Given the description of an element on the screen output the (x, y) to click on. 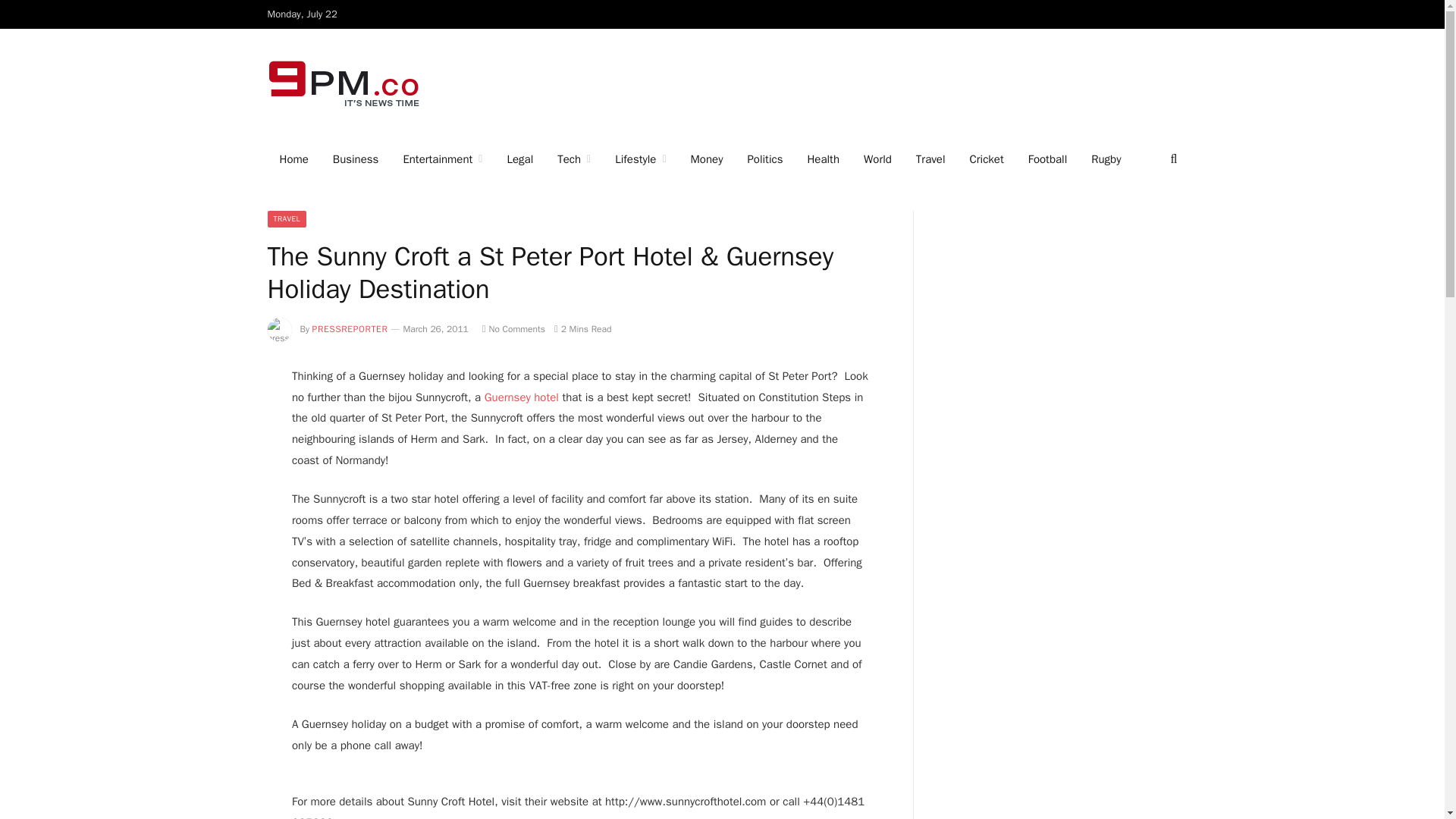
Tech (573, 159)
Posts by pressreporter (350, 328)
9pm.Co Latest News (344, 83)
Lifestyle (640, 159)
Legal (519, 159)
Search (1172, 159)
Business (355, 159)
Entertainment (442, 159)
Home (293, 159)
